Given the description of an element on the screen output the (x, y) to click on. 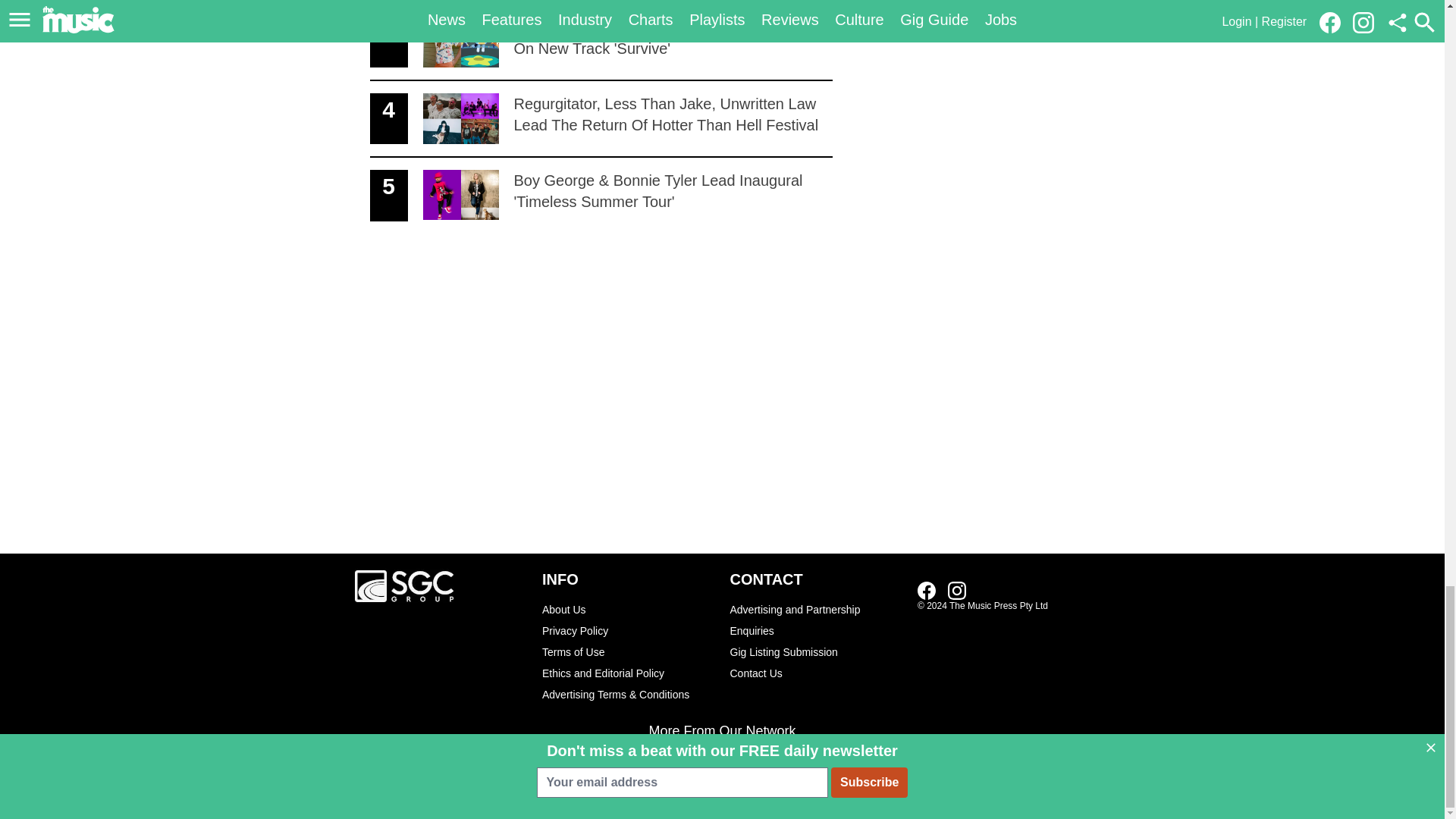
Privacy Policy (627, 630)
Gig Listing Submission (815, 651)
Ethics and Editorial Policy (627, 672)
Terms of Use (627, 651)
Link to our Facebook (815, 619)
About Us (926, 590)
Link to our Instagram (627, 608)
